Given the description of an element on the screen output the (x, y) to click on. 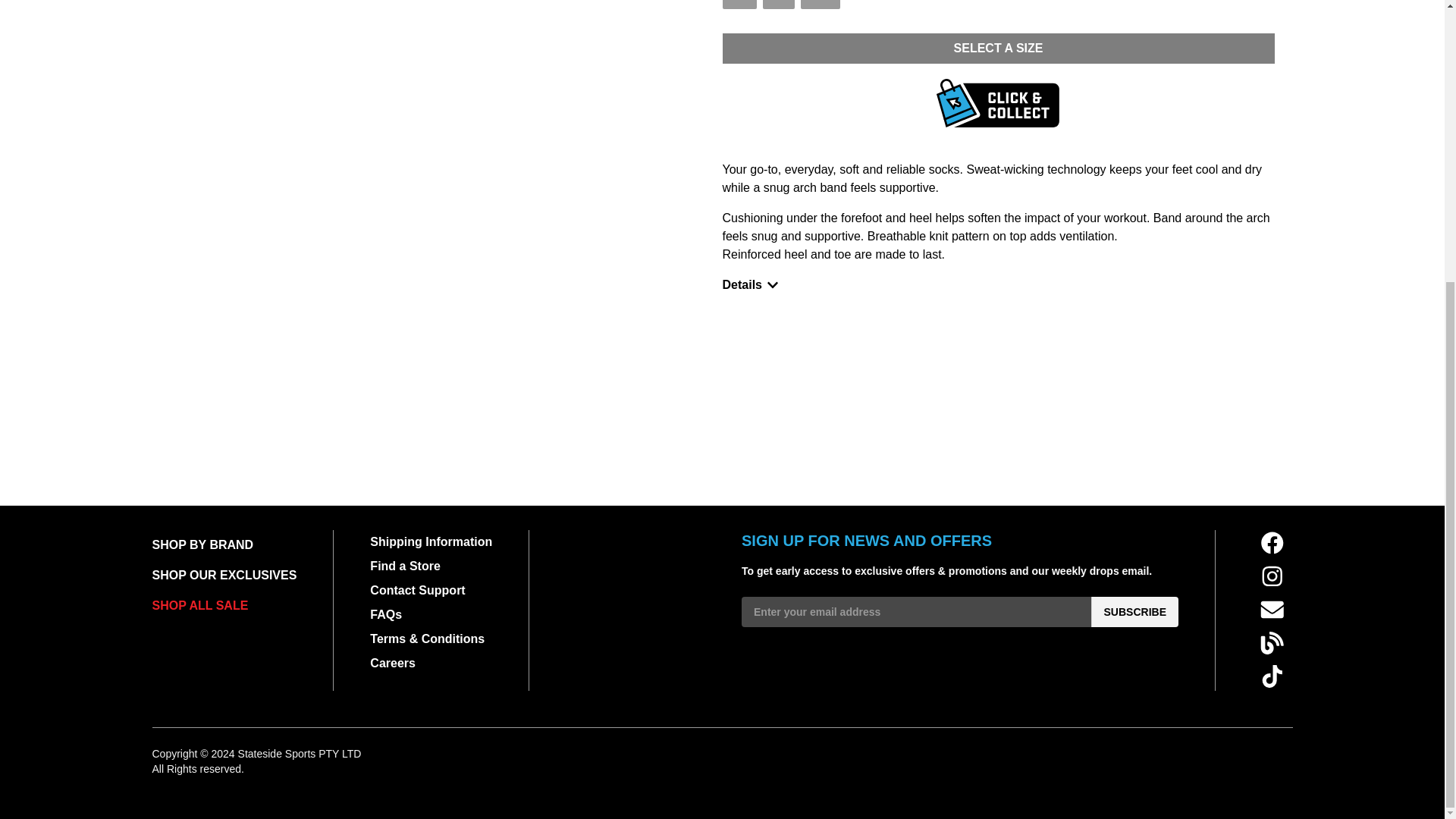
Facebook (1272, 543)
Blog (1272, 643)
Email Stateside (1272, 610)
In stock (778, 4)
Instagram (1272, 677)
In stock (738, 4)
In stock (820, 4)
Instagram (1272, 576)
